Given the description of an element on the screen output the (x, y) to click on. 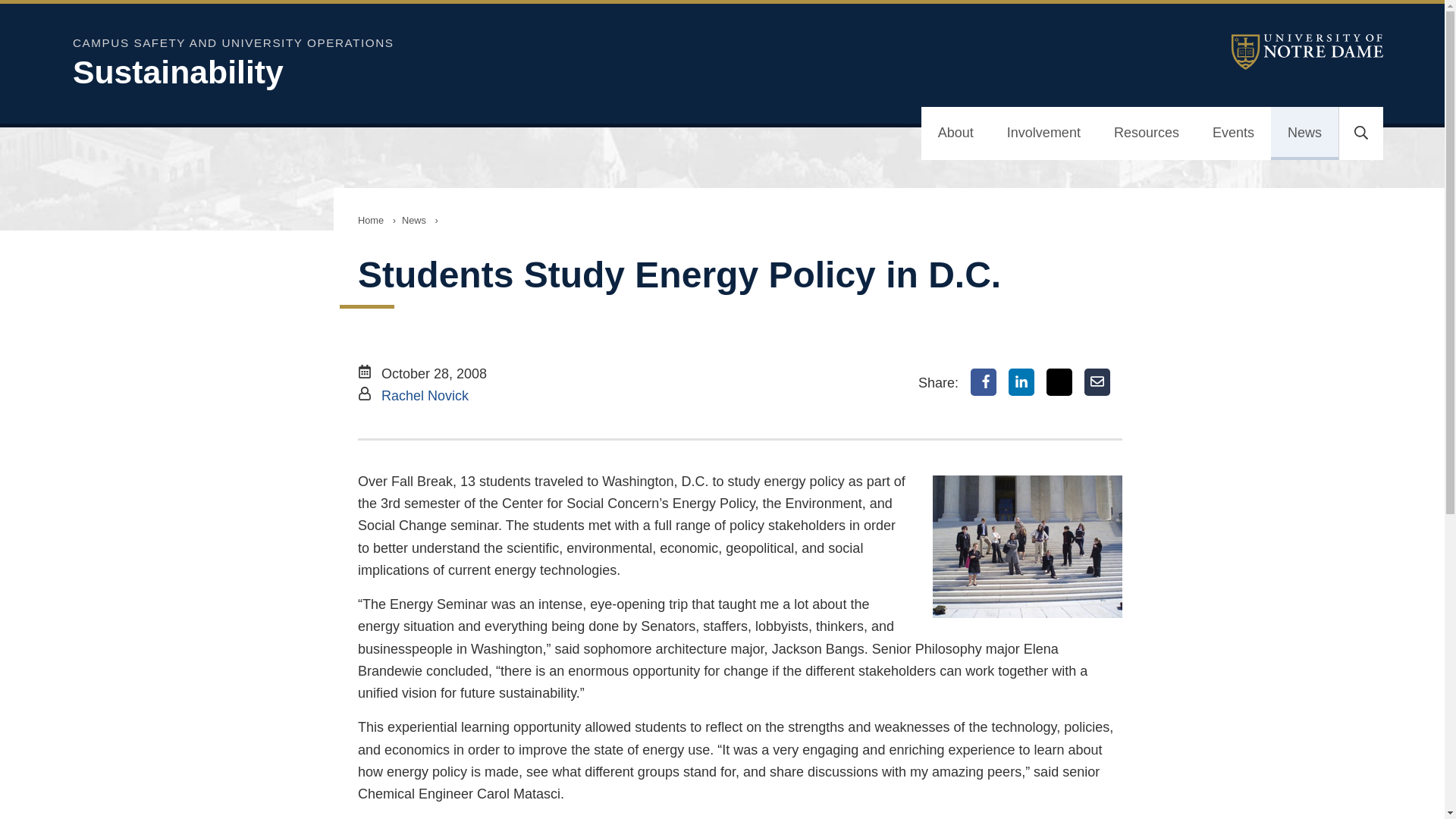
Events (1233, 133)
Home (371, 220)
LinkedIn (1021, 381)
News (414, 220)
University of Notre Dame (1307, 51)
News (1304, 133)
Resources (1146, 133)
About (955, 133)
Involvement (1043, 133)
Sustainability (466, 72)
Rachel Novick (424, 395)
Facebook (983, 381)
Email (1096, 381)
